Given the description of an element on the screen output the (x, y) to click on. 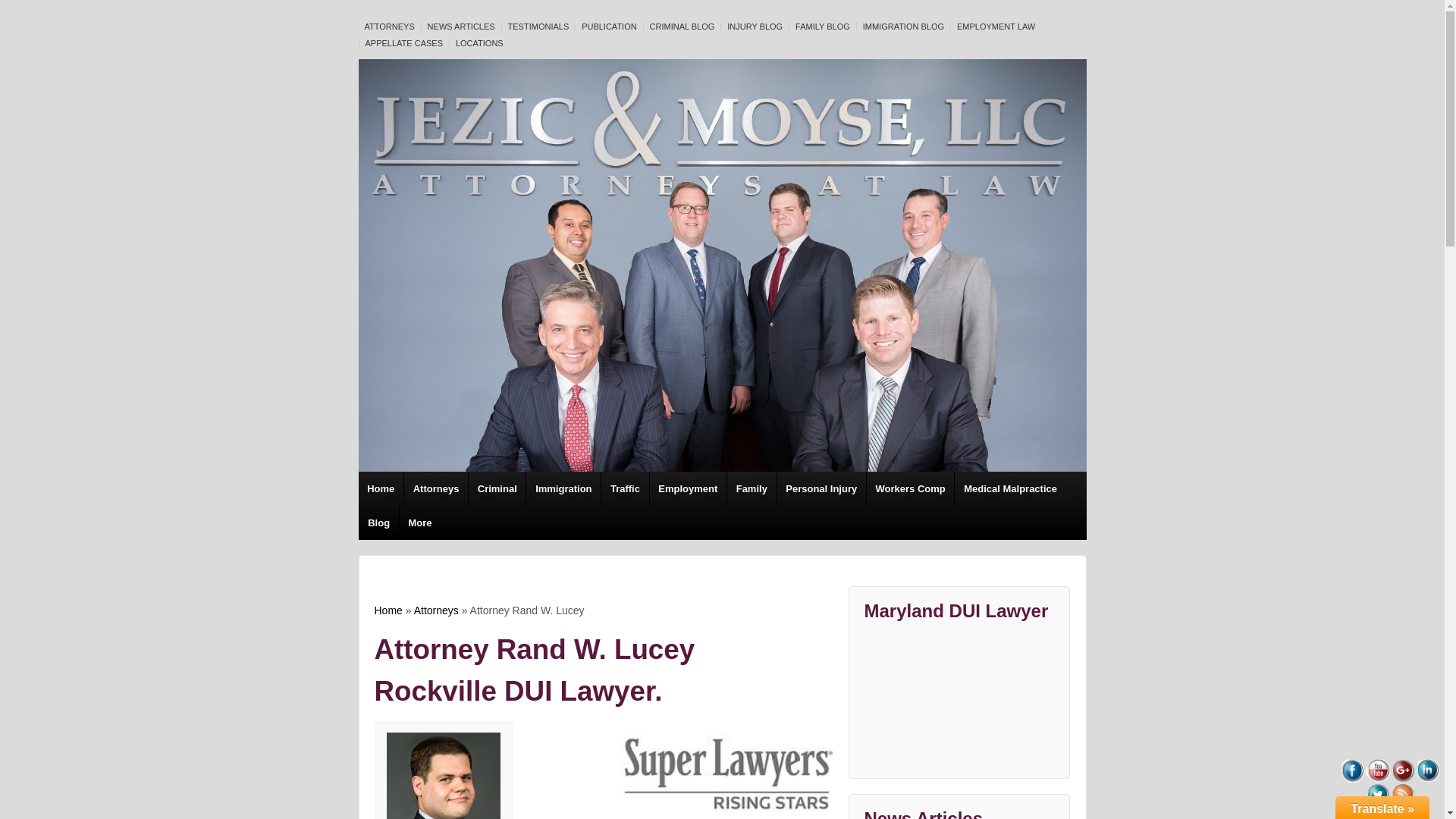
Attorneys (435, 488)
Maryland dui attorney (718, 772)
EMPLOYMENT LAW (994, 26)
Criminal (496, 488)
INJURY BLOG (753, 26)
NEWS ARTICLES  (458, 26)
NEWS ARTICLES (458, 26)
FAMILY BLOG (821, 26)
APPELLATE CASES (401, 42)
TESTIMONIALS (536, 26)
LOCATIONS (477, 42)
CRIMINAL BLOG (680, 26)
IMMIGRATION BLOG (901, 26)
ATTORNEYS (387, 26)
Rockville criminal attorney (443, 775)
